Given the description of an element on the screen output the (x, y) to click on. 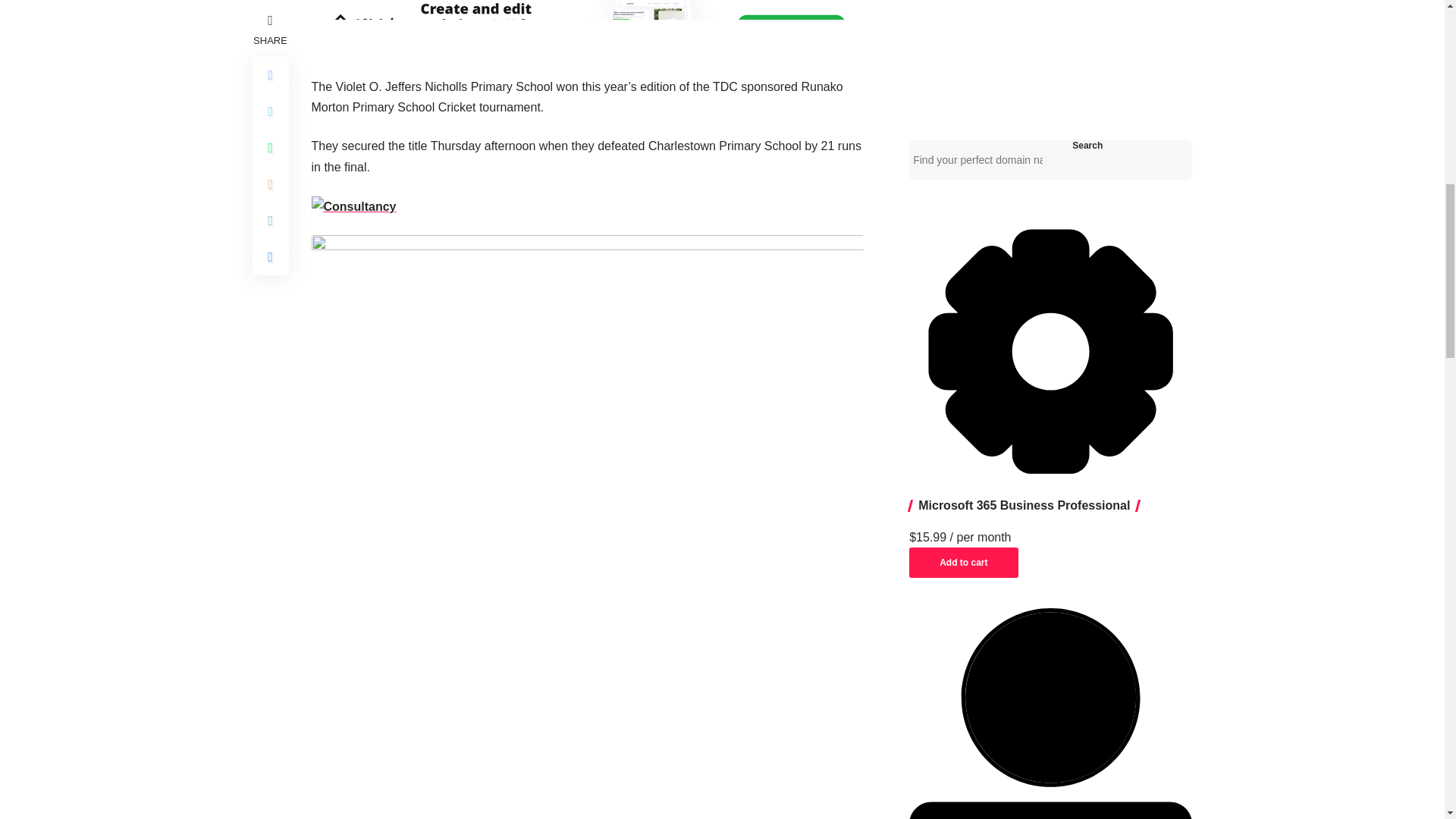
Search (1087, 145)
Search (1087, 145)
Additional Products (1050, 351)
WordPress (1050, 713)
